Given the description of an element on the screen output the (x, y) to click on. 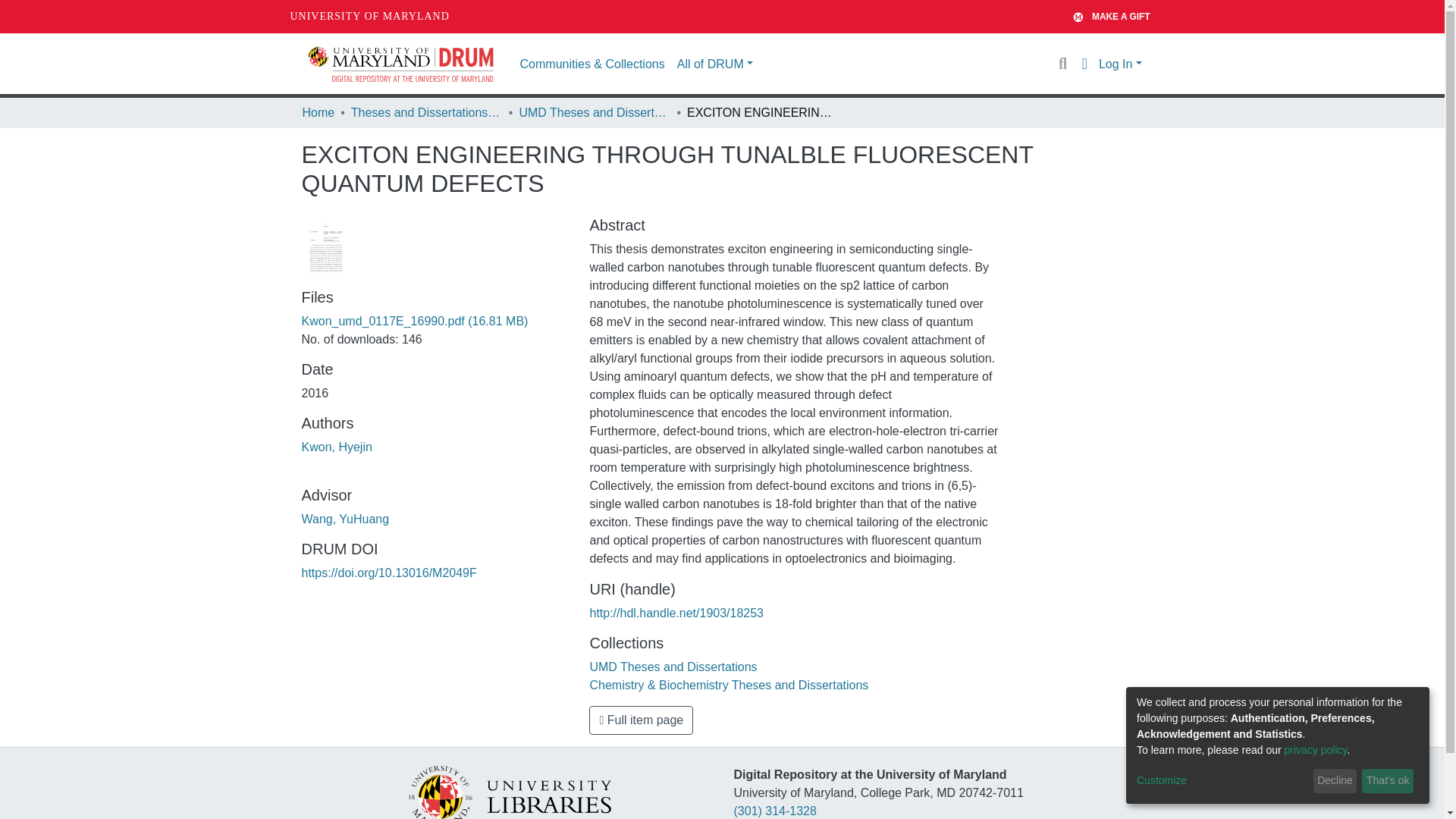
Log In (1119, 63)
Home (317, 113)
GIFT (1082, 16)
UMD Theses and Dissertations (593, 113)
All of DRUM (714, 63)
Wang, YuHuang (345, 518)
Language switch (1084, 63)
UNIVERSITY OF MARYLAND (368, 16)
Search (1061, 63)
Kwon, Hyejin (336, 446)
UMD Theses and Dissertations (673, 666)
GIFTMAKE A GIFT (1111, 16)
Libraries Home Page (508, 795)
Theses and Dissertations from UMD (426, 113)
Full item page (641, 719)
